Given the description of an element on the screen output the (x, y) to click on. 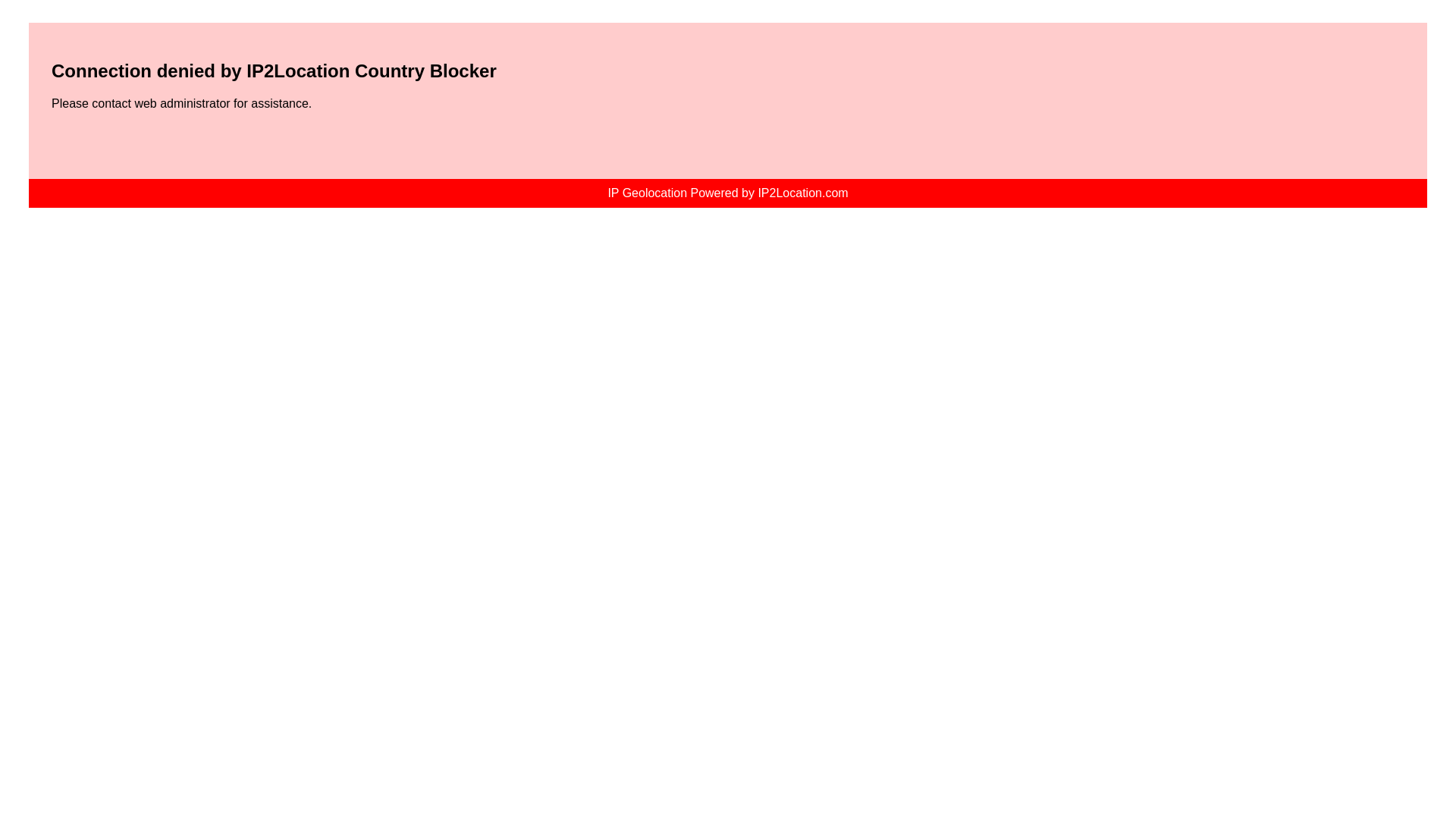
IP Geolocation Powered by IP2Location.com (727, 192)
